Given the description of an element on the screen output the (x, y) to click on. 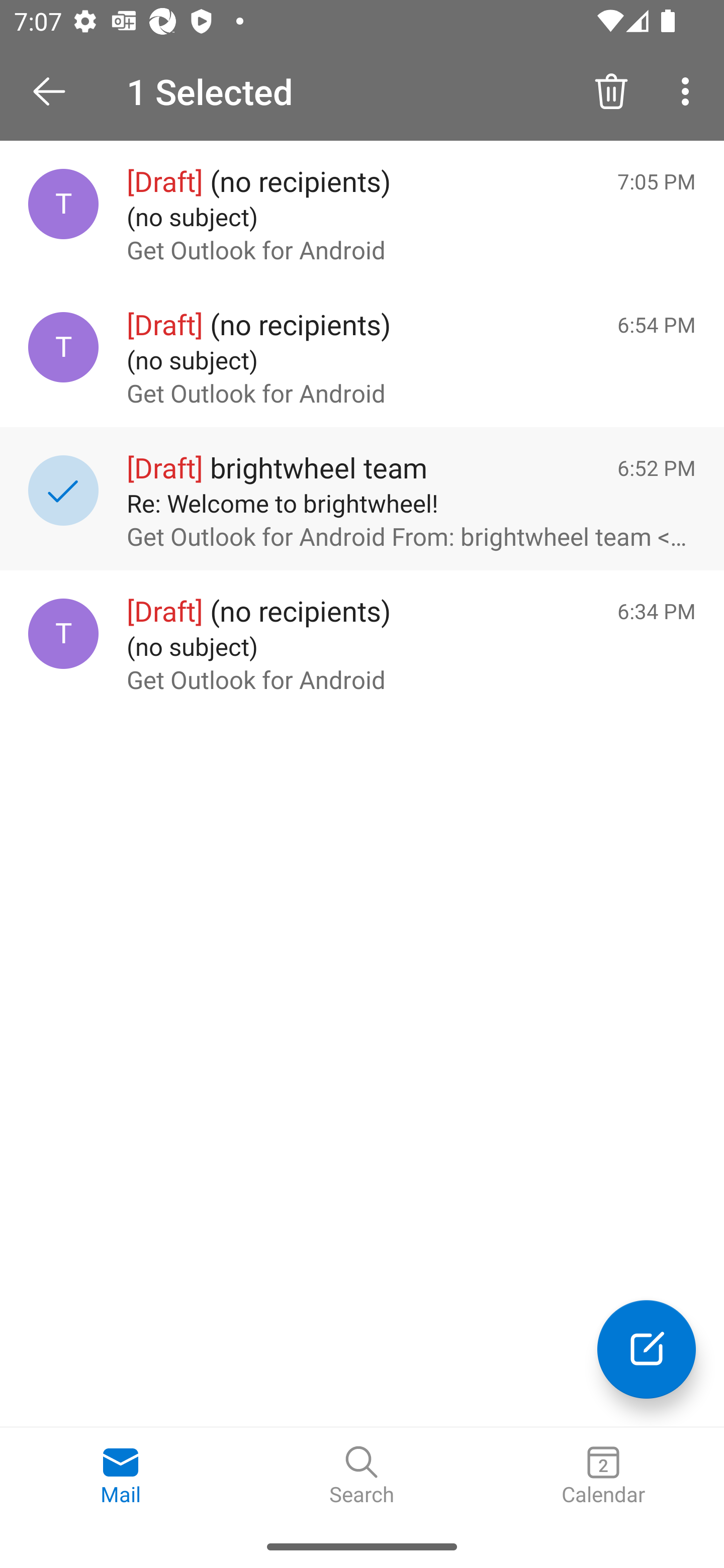
Delete (611, 90)
More options (688, 90)
Open Navigation Drawer (55, 91)
testappium001@outlook.com (63, 204)
testappium001@outlook.com (63, 347)
testappium001@outlook.com (63, 633)
Compose (646, 1348)
Search (361, 1475)
Calendar (603, 1475)
